Given the description of an element on the screen output the (x, y) to click on. 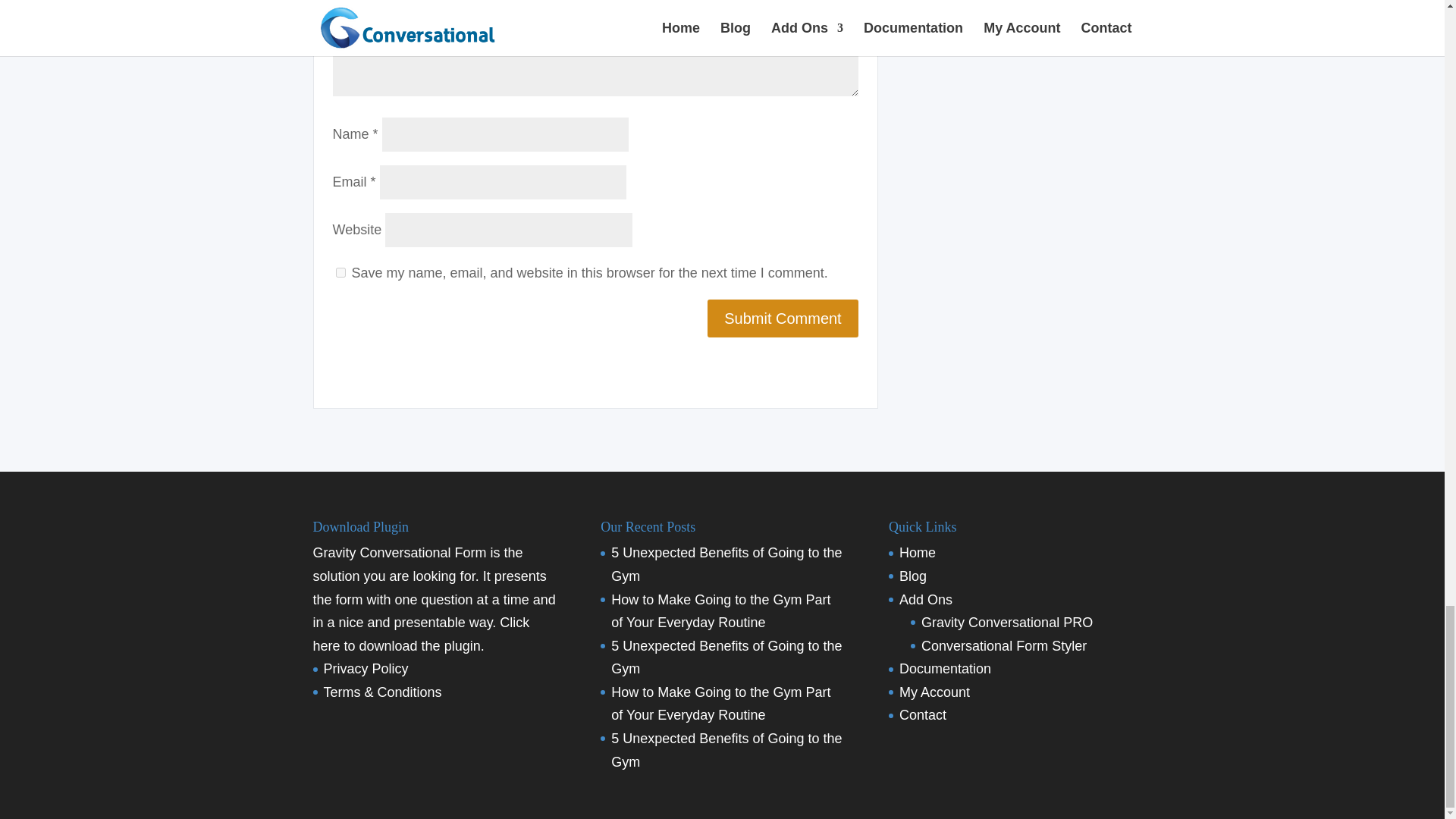
Submit Comment (783, 318)
Documentation (945, 668)
Privacy Policy (365, 668)
5 Unexpected Benefits of Going to the Gym (726, 564)
5 Unexpected Benefits of Going to the Gym (726, 657)
My Account (934, 692)
Contact (922, 714)
How to Make Going to the Gym Part of Your Everyday Routine (720, 703)
Click here to download the plugin (421, 634)
Conversational Form Styler (1003, 645)
5 Unexpected Benefits of Going to the Gym (726, 750)
Add Ons (925, 598)
Gravity Conversational PRO (1007, 622)
Home (917, 552)
yes (339, 272)
